Given the description of an element on the screen output the (x, y) to click on. 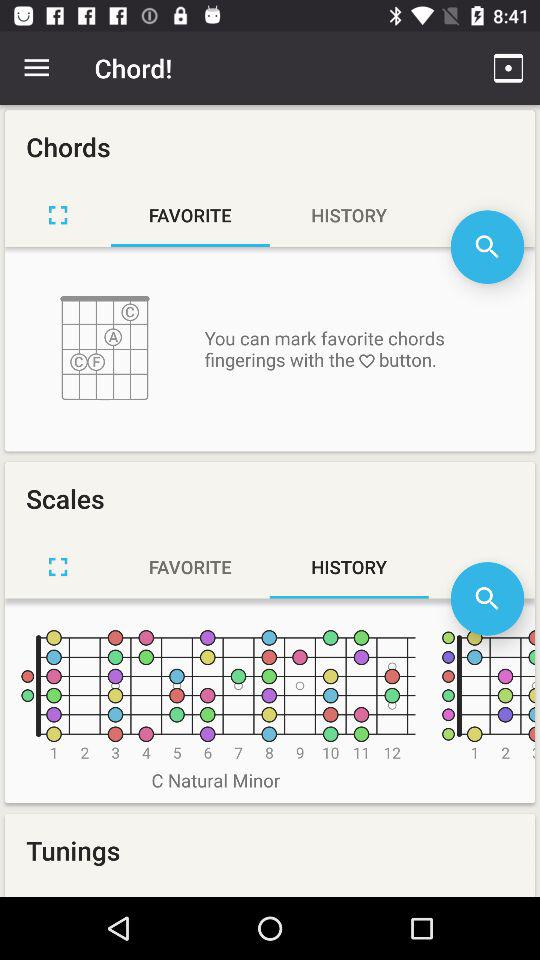
chord view (58, 215)
